Given the description of an element on the screen output the (x, y) to click on. 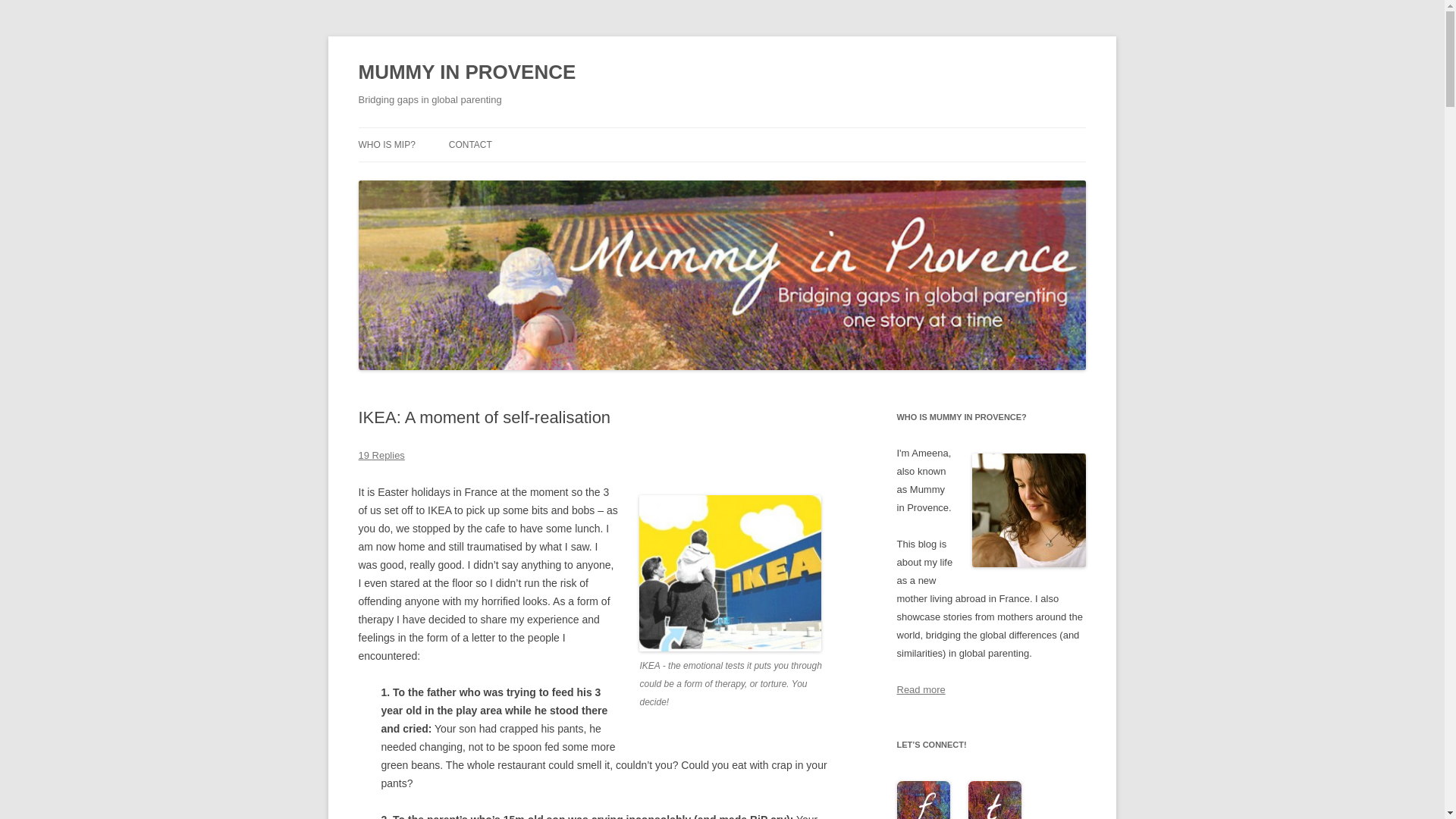
MUMMY IN PROVENCE (466, 72)
CONTACT (470, 144)
19 Replies (381, 455)
WHO IS MIP? (386, 144)
IKEA SHOPS (730, 573)
COOKIE POLICY (433, 176)
MUMMY IN PROVENCE (466, 72)
Ameena (1029, 510)
